Given the description of an element on the screen output the (x, y) to click on. 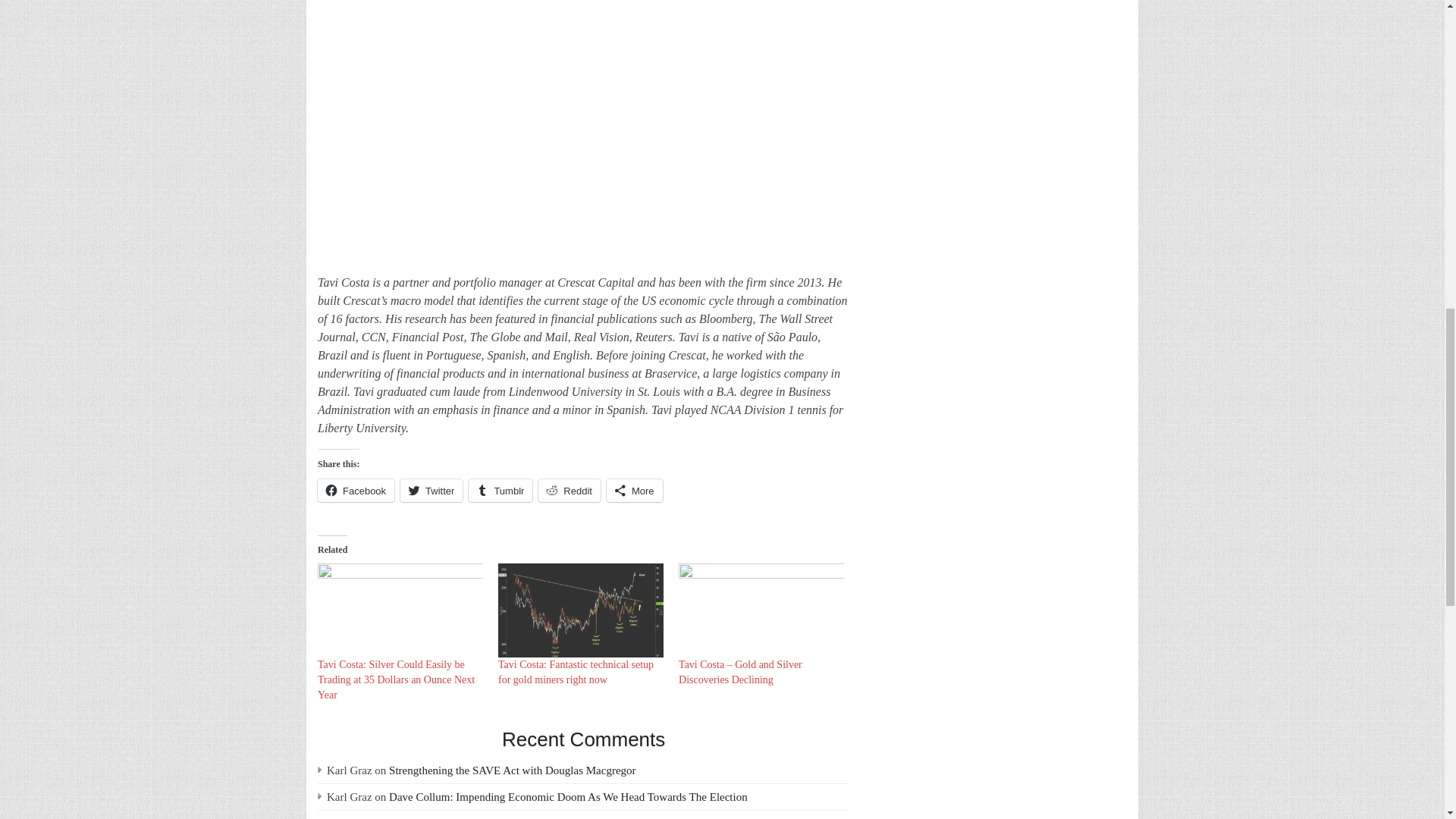
Click to share on Reddit (568, 490)
Click to share on Facebook (355, 490)
Click to share on Twitter (431, 490)
Click to share on Tumblr (500, 490)
